Given the description of an element on the screen output the (x, y) to click on. 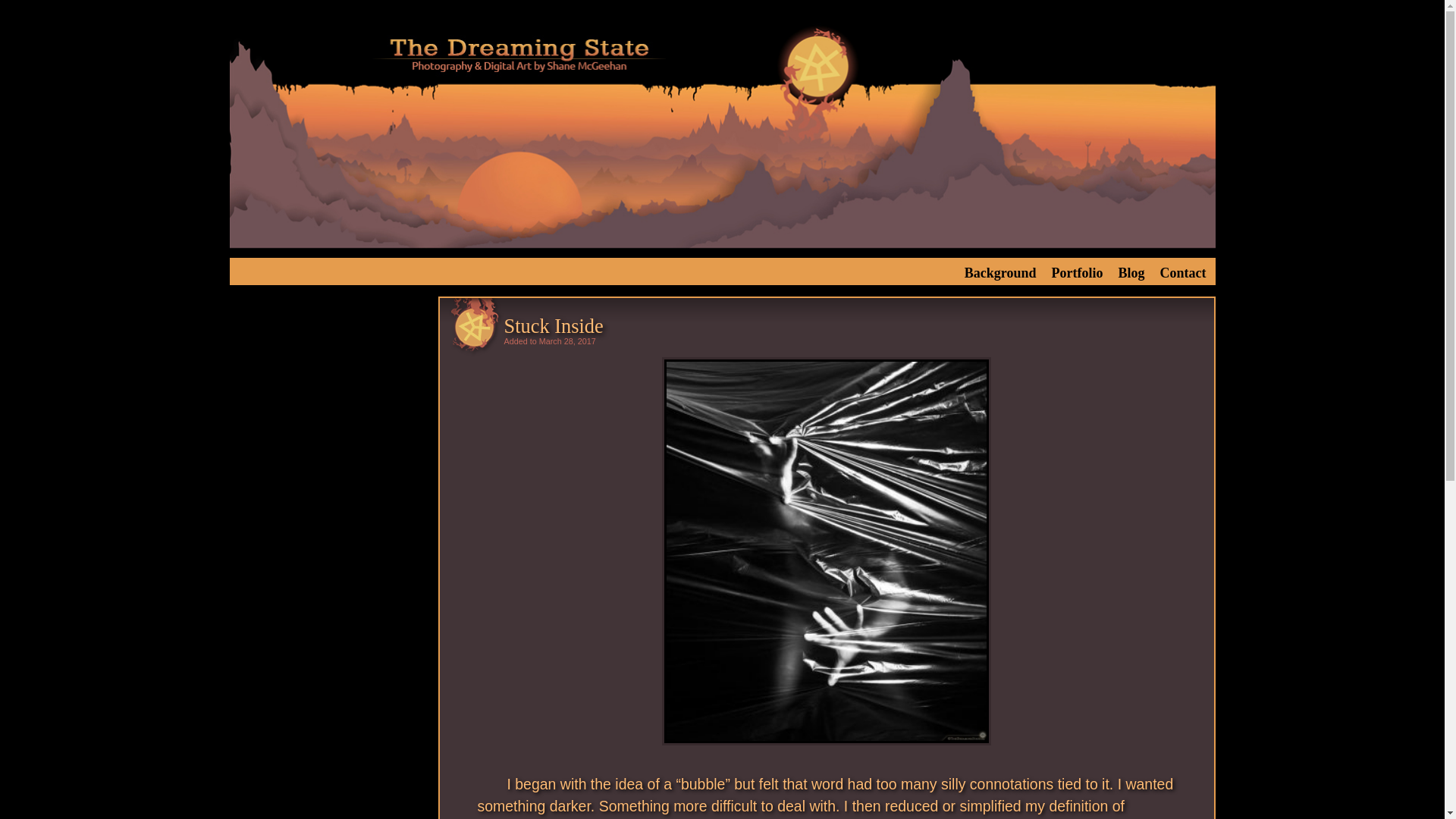
Stuck Inside (552, 325)
Contact (1183, 271)
Background (1000, 271)
Stuck Inside (552, 325)
Portfolio (1076, 271)
Blog (1131, 271)
